Given the description of an element on the screen output the (x, y) to click on. 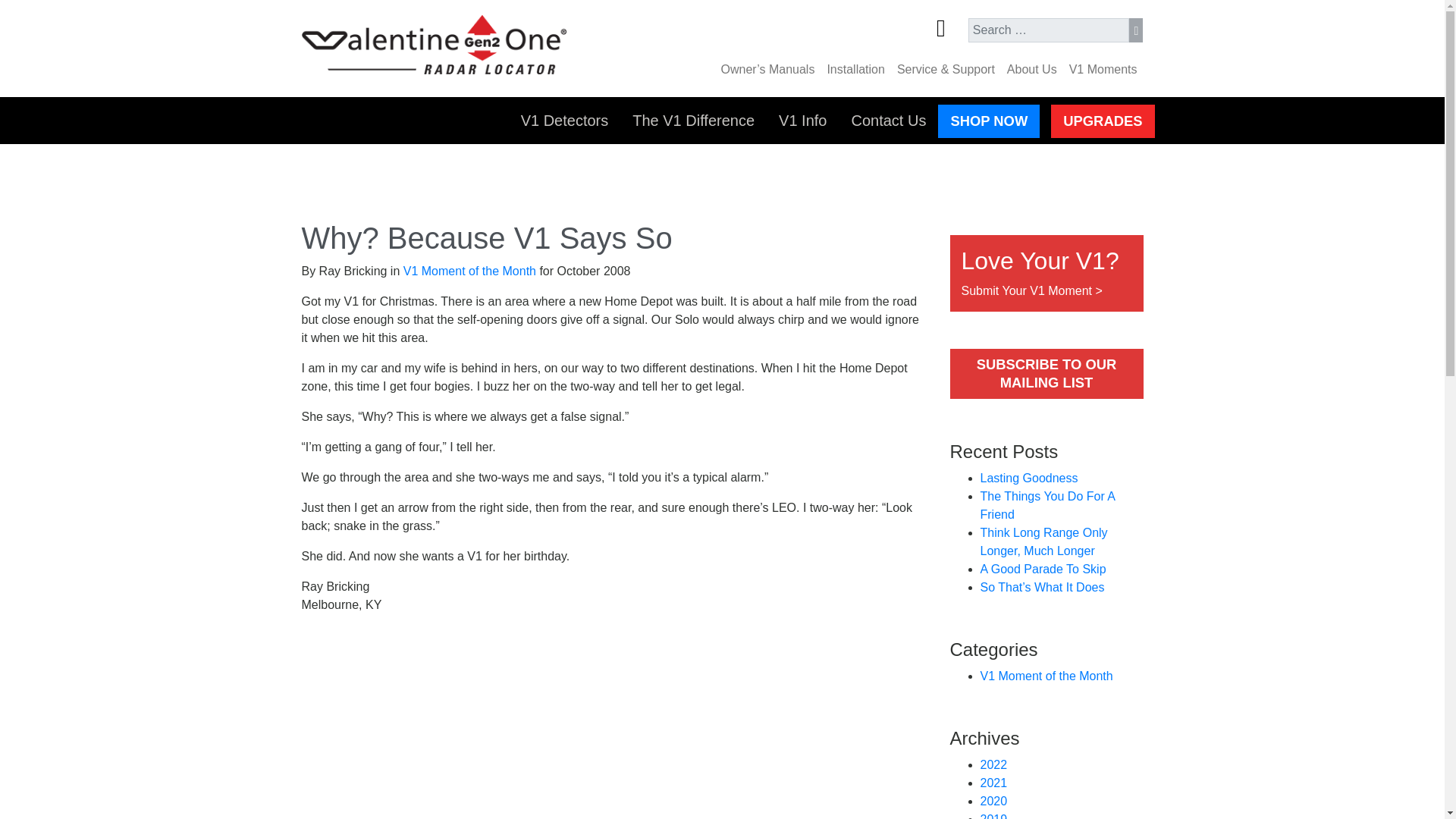
V1 Moments (1102, 69)
Installation (856, 69)
Contact Us (887, 120)
V1 Detectors (564, 120)
About Us (1031, 69)
The V1 Difference (693, 120)
View Cart (952, 31)
V1 Info (802, 120)
